Given the description of an element on the screen output the (x, y) to click on. 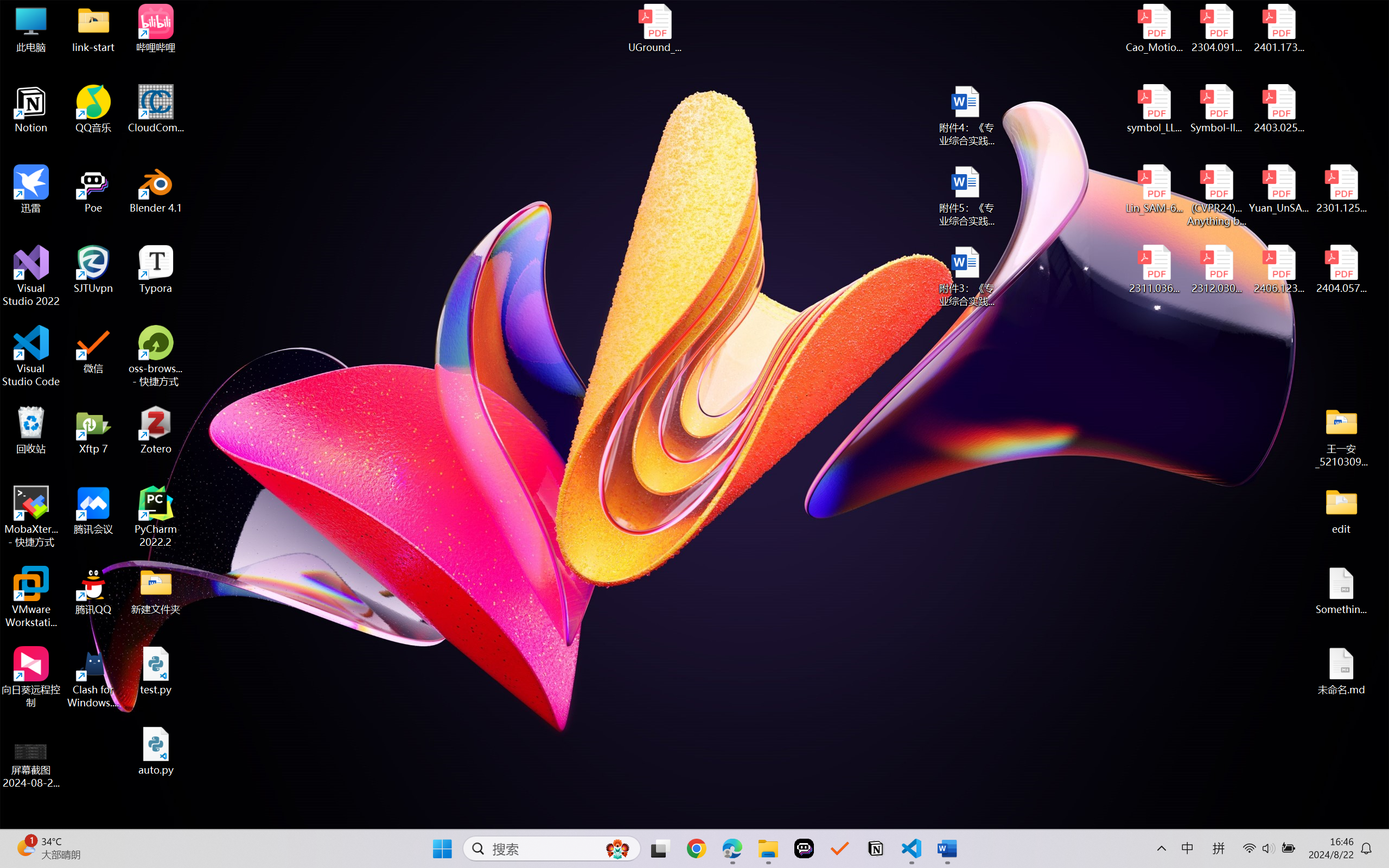
2311.03658v2.pdf (1154, 269)
2404.05719v1.pdf (1340, 269)
